Given the description of an element on the screen output the (x, y) to click on. 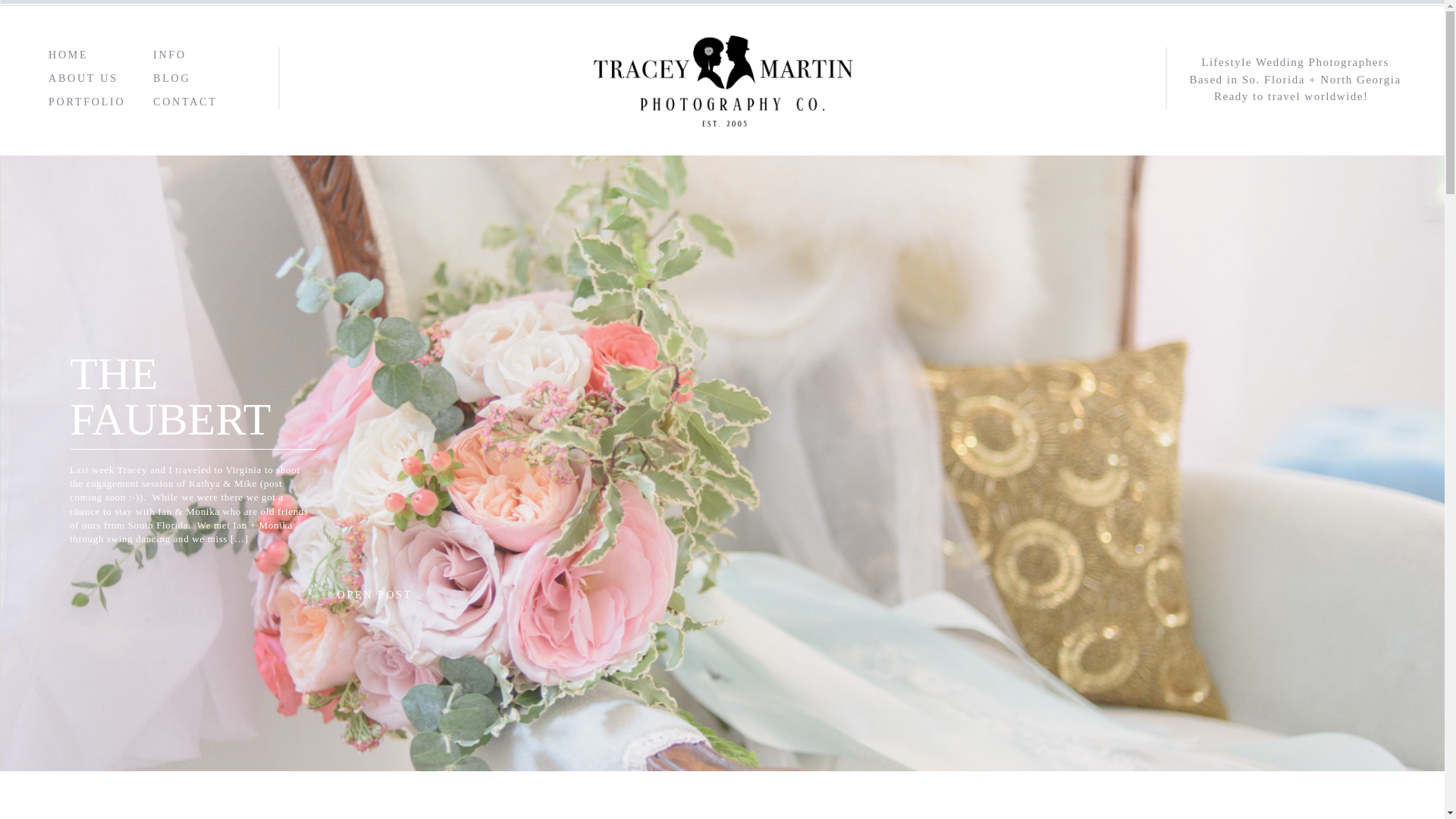
PORTFOLIO (1203, 27)
CONTACT (187, 101)
BLOG (1328, 27)
INFO (1273, 27)
INFO (196, 53)
CONTACT (1393, 27)
ABOUT US (84, 77)
HOME (1059, 27)
BLOG (185, 77)
ABOUT US (1124, 27)
